Given the description of an element on the screen output the (x, y) to click on. 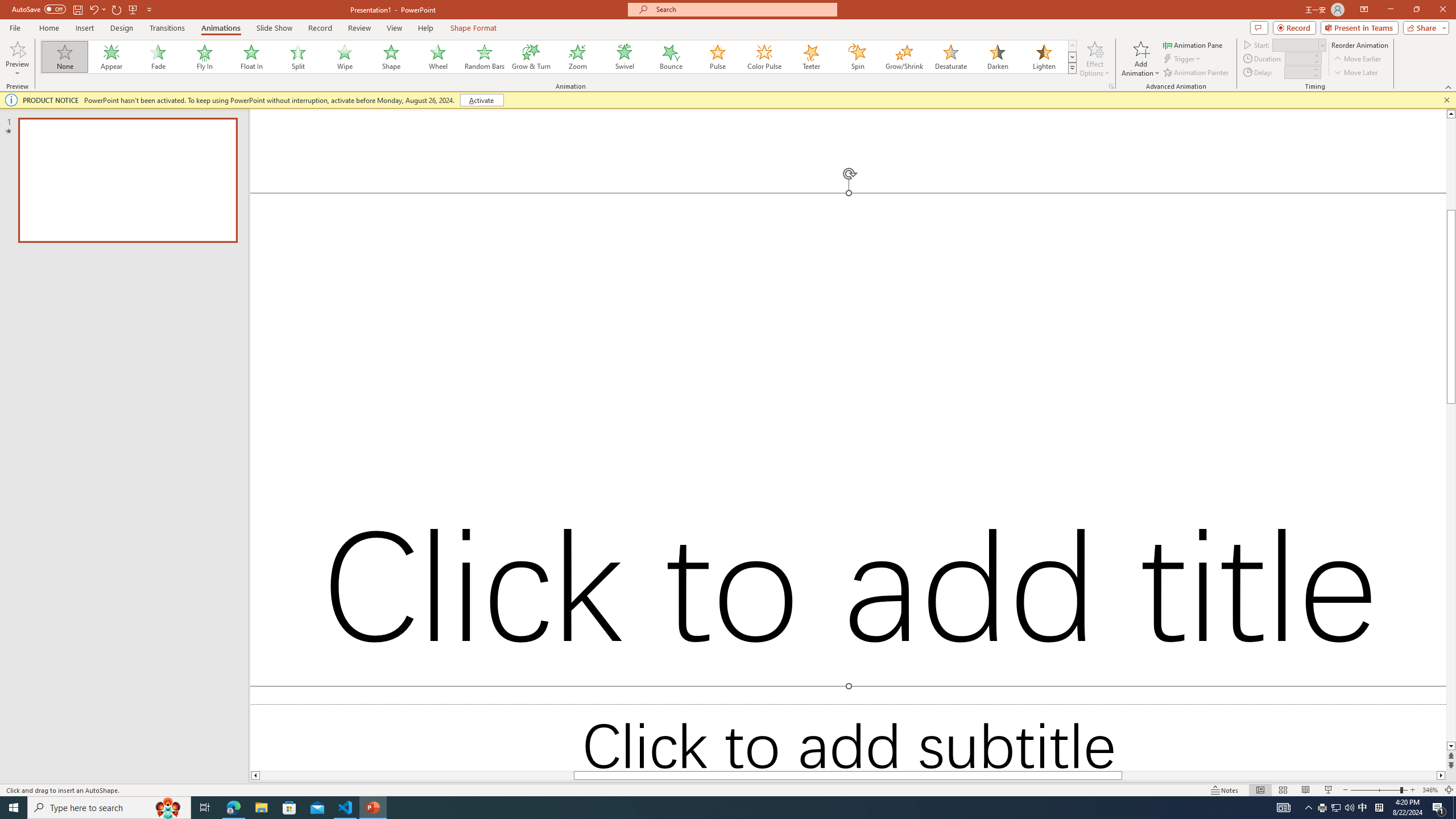
Swivel (624, 56)
More Options... (1110, 85)
Trigger (1182, 58)
